Given the description of an element on the screen output the (x, y) to click on. 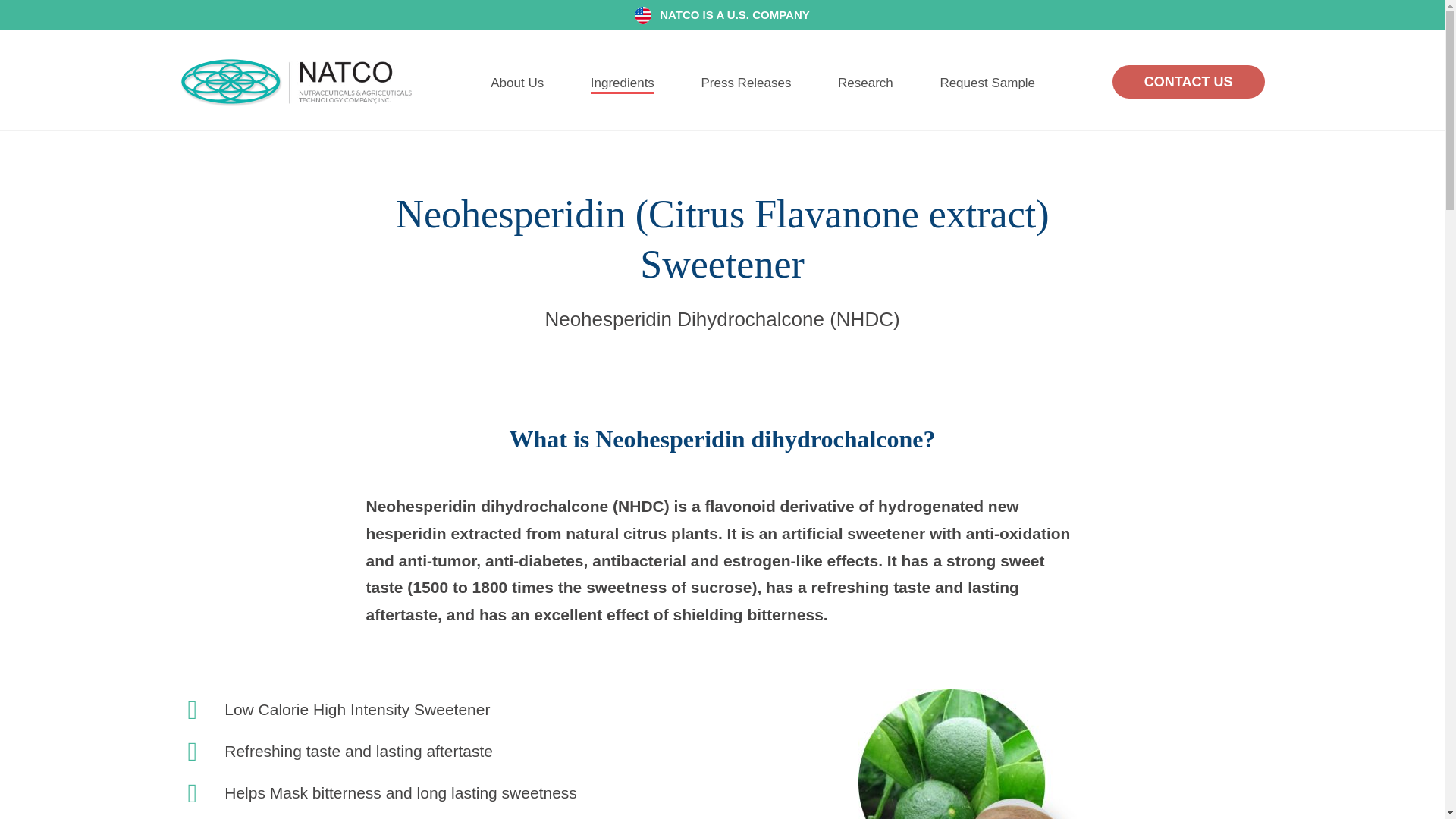
Press Releases (745, 83)
Natco Healthy Living Neohesperidin Sweetener (972, 754)
Request Sample (987, 83)
Research (865, 83)
CONTACT US (1188, 81)
About Us (516, 83)
Ingredients (622, 85)
